Given the description of an element on the screen output the (x, y) to click on. 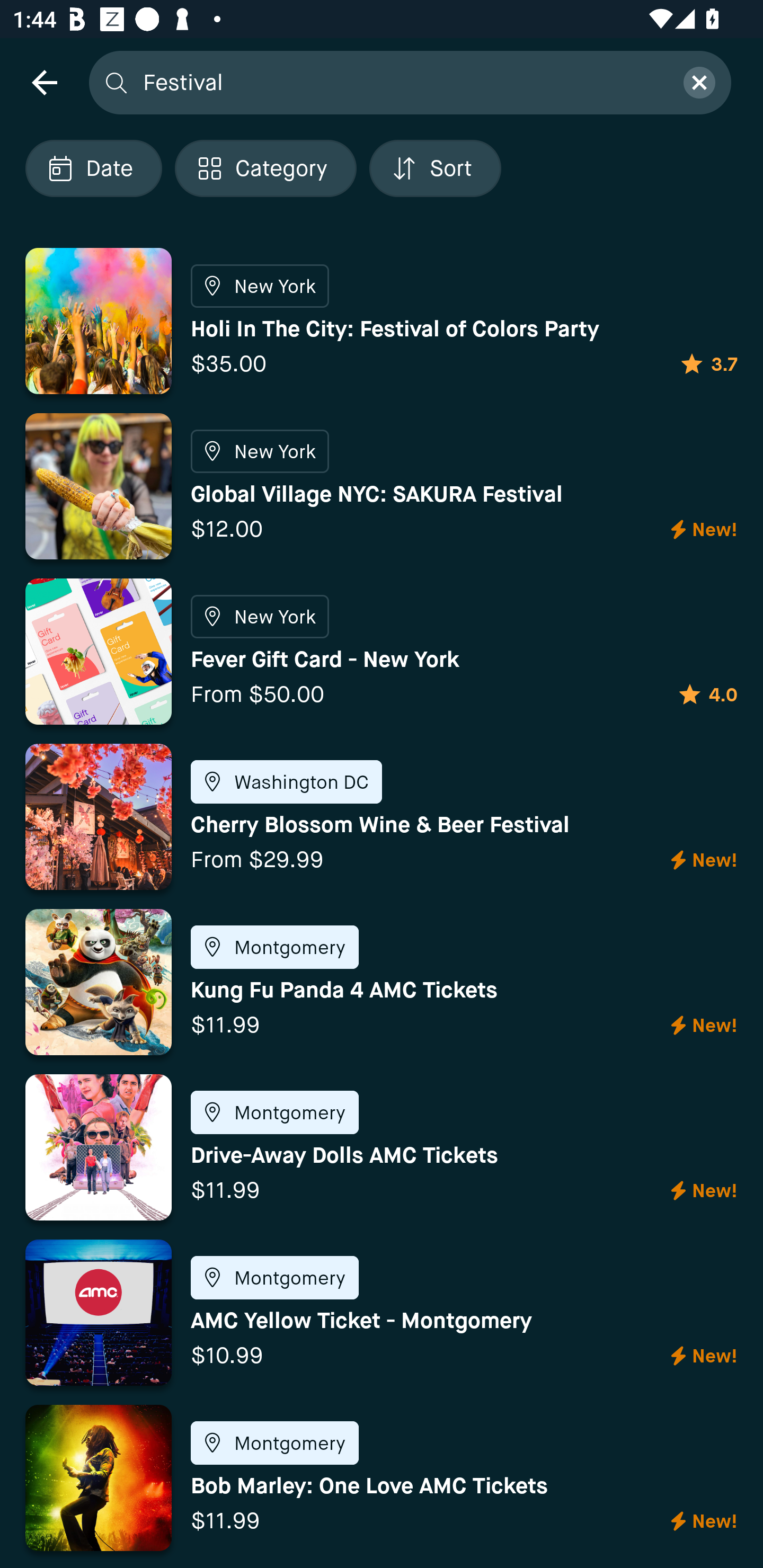
navigation icon (44, 81)
Festival (402, 81)
Localized description Date (93, 168)
Localized description Category (265, 168)
Localized description Sort (435, 168)
